Given the description of an element on the screen output the (x, y) to click on. 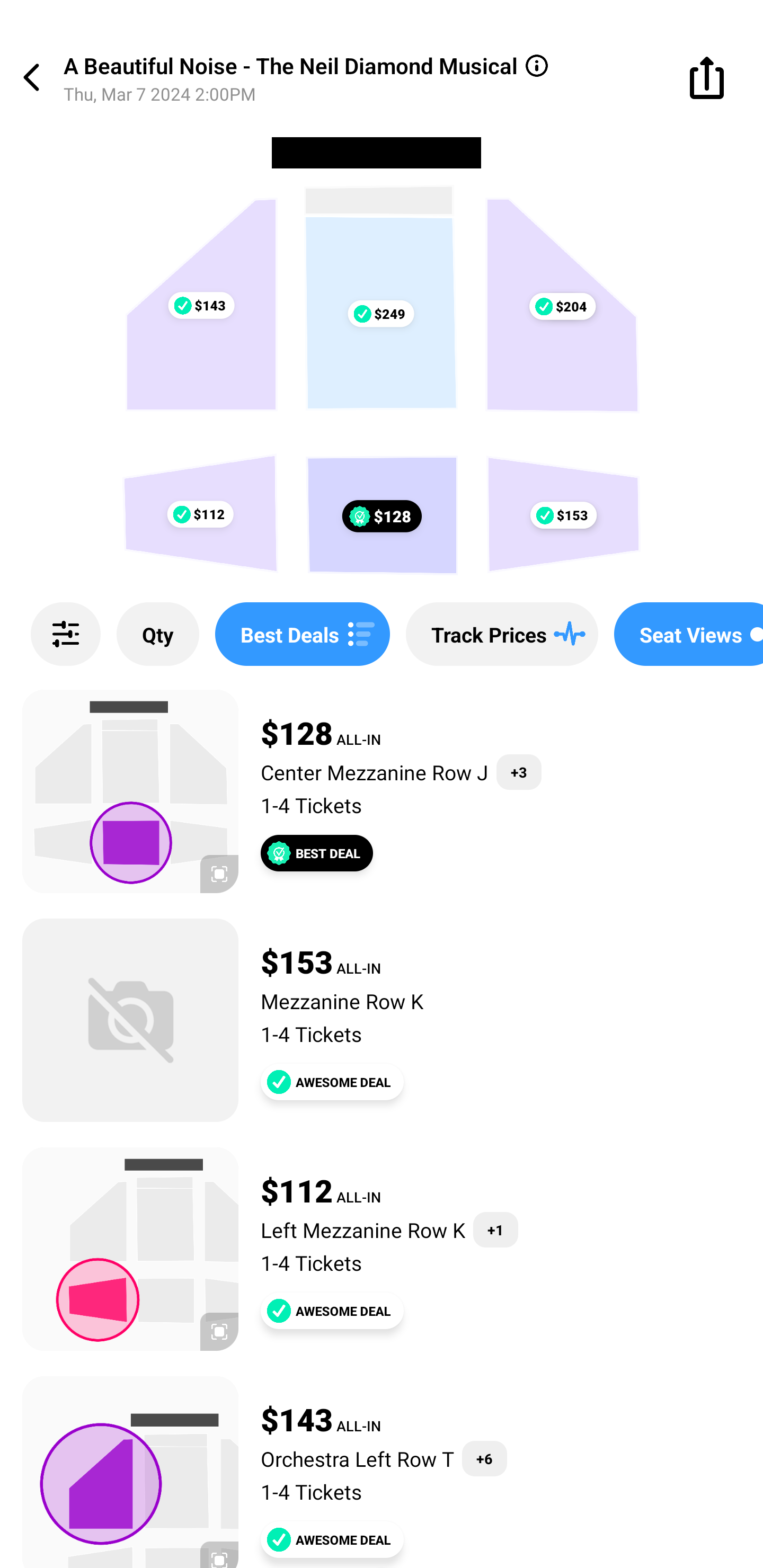
$249 (380, 313)
Qty (157, 634)
Best Deals (302, 634)
Track Prices (501, 634)
Seat Views (688, 634)
+3 (518, 772)
BEST DEAL (316, 852)
AWESOME DEAL (331, 1081)
+1 (495, 1230)
AWESOME DEAL (331, 1310)
+6 (484, 1458)
AWESOME DEAL (331, 1539)
